Given the description of an element on the screen output the (x, y) to click on. 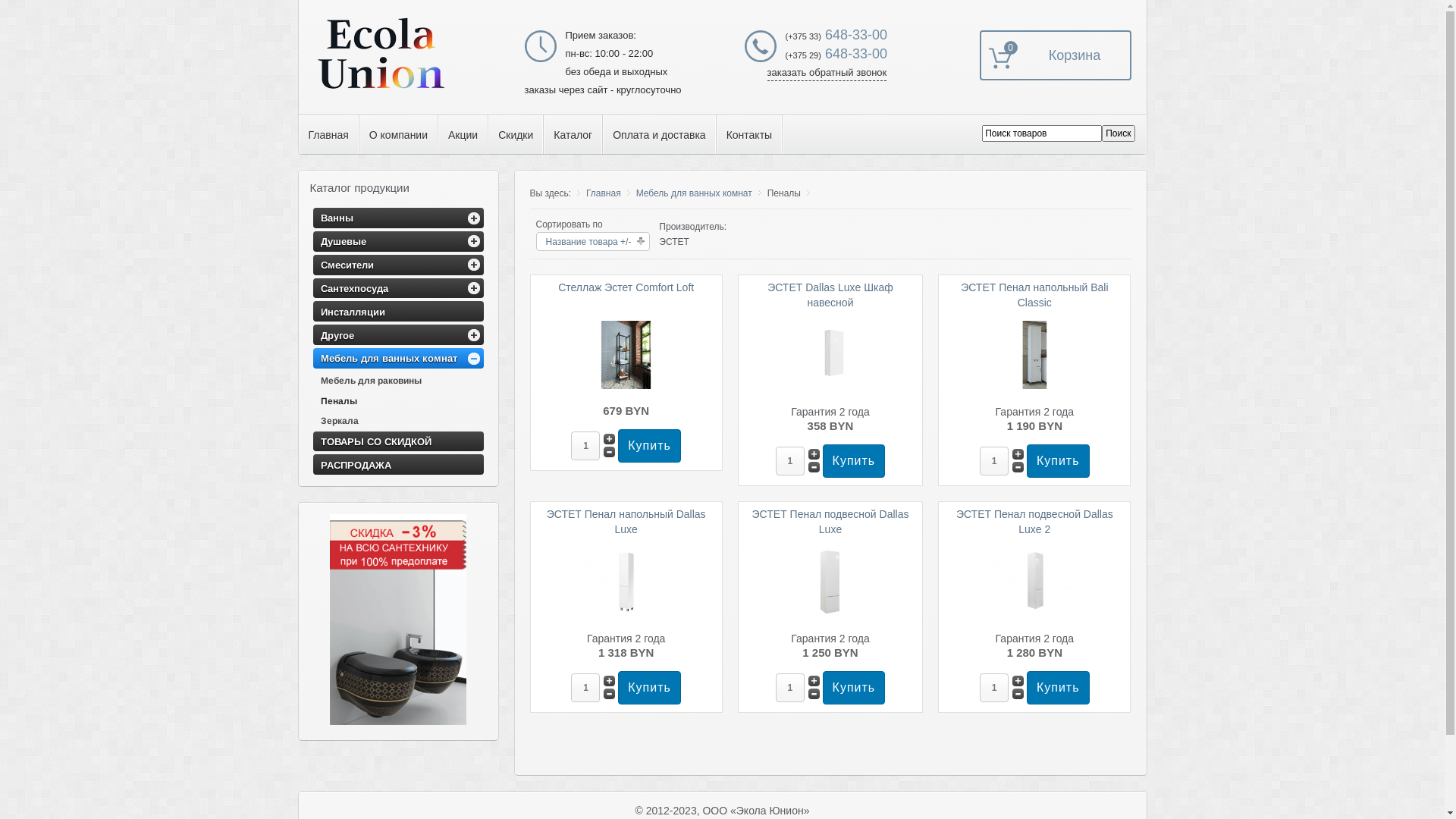
(+375 33) 648-33-00 Element type: text (836, 34)
(+375 29) 648-33-00 Element type: text (836, 53)
